Given the description of an element on the screen output the (x, y) to click on. 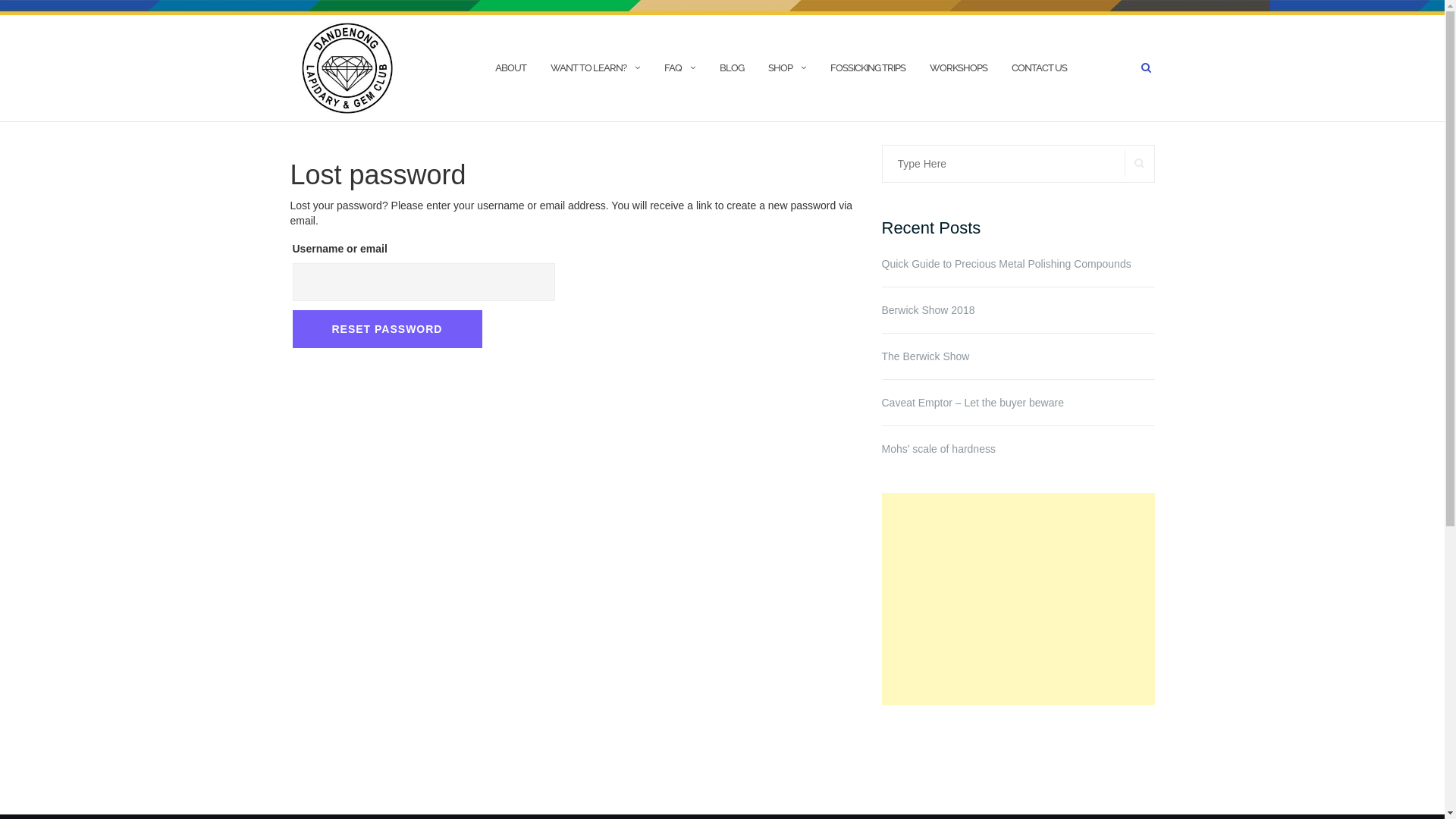
Advertisement Element type: hover (1017, 598)
FAQ Element type: text (672, 67)
Quick Guide to Precious Metal Polishing Compounds Element type: text (1017, 263)
ABOUT Element type: text (509, 67)
BLOG Element type: text (730, 67)
FOSSICKING TRIPS Element type: text (866, 67)
RESET PASSWORD Element type: text (387, 329)
SEARCH Element type: text (1138, 163)
The Berwick Show Element type: text (1017, 356)
WORKSHOPS Element type: text (958, 67)
Berwick Show 2018 Element type: text (1017, 309)
CONTACT US Element type: text (1038, 67)
SHOP Element type: text (779, 67)
WANT TO LEARN? Element type: text (588, 67)
